Given the description of an element on the screen output the (x, y) to click on. 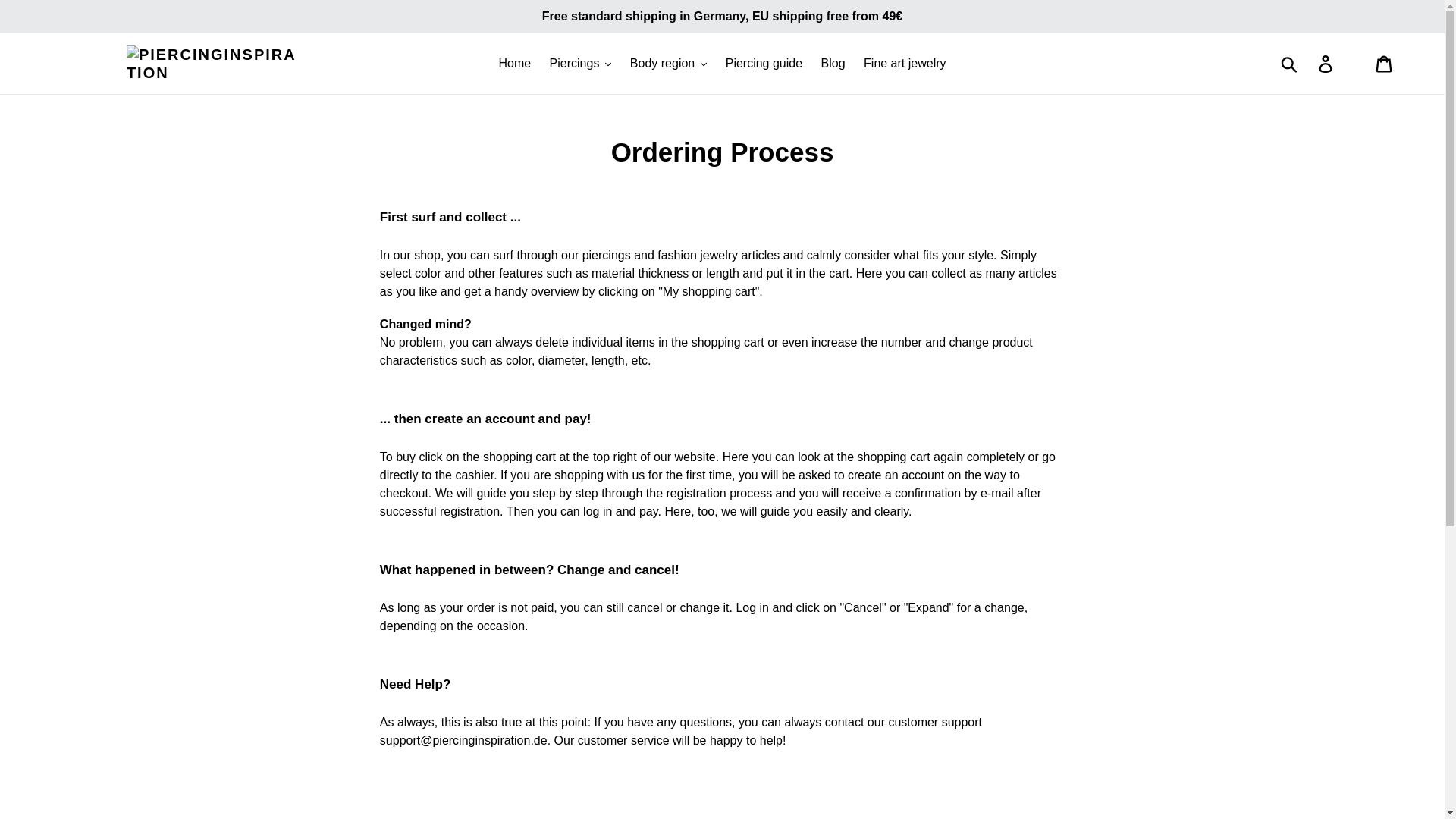
Blog (833, 63)
Piercing guide (763, 63)
Home (514, 63)
